Given the description of an element on the screen output the (x, y) to click on. 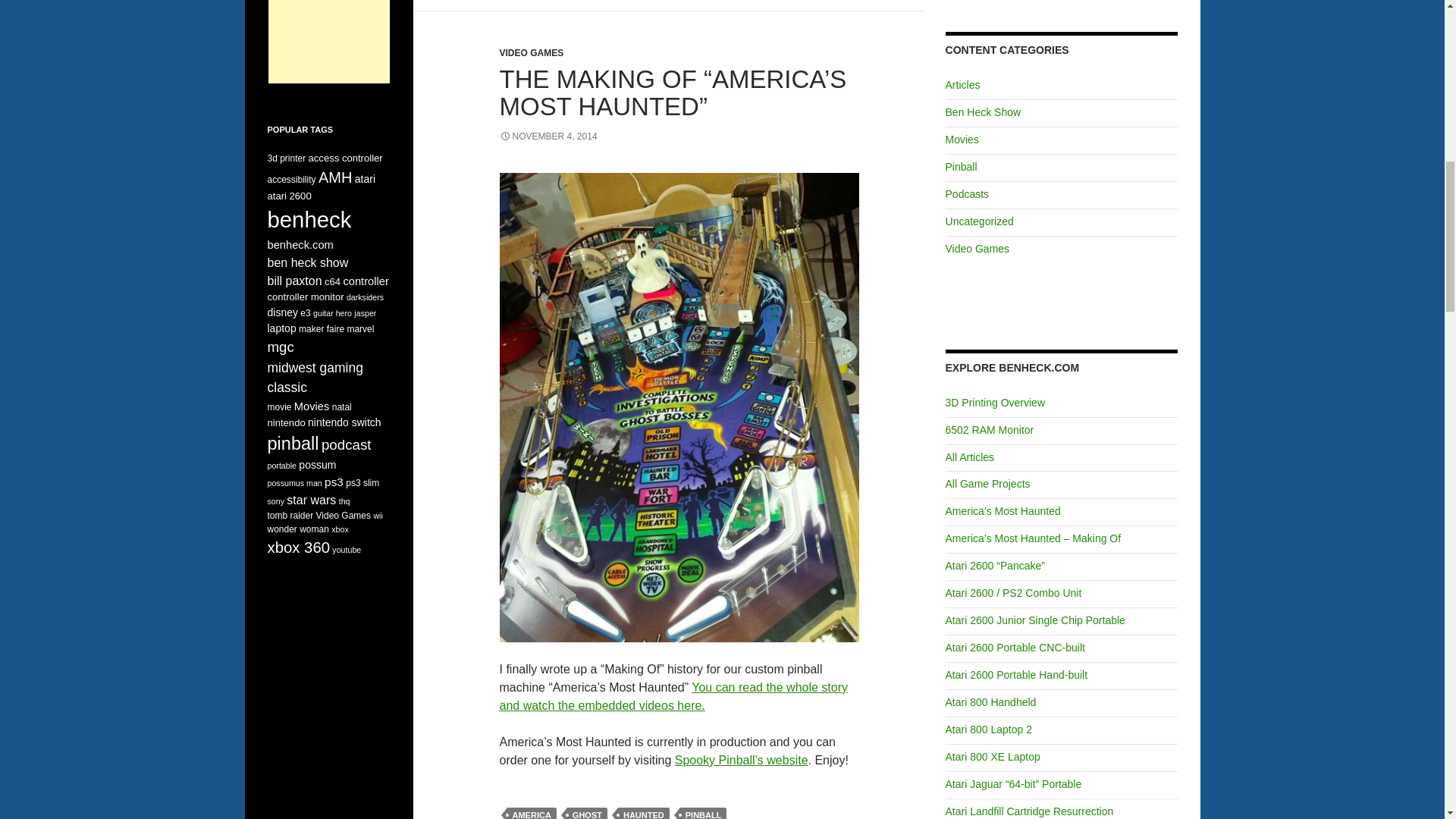
GHOST (587, 813)
Advertisement (328, 41)
PINBALL (702, 813)
VIDEO GAMES (531, 52)
NOVEMBER 4, 2014 (547, 136)
HAUNTED (643, 813)
AMERICA (531, 813)
